Given the description of an element on the screen output the (x, y) to click on. 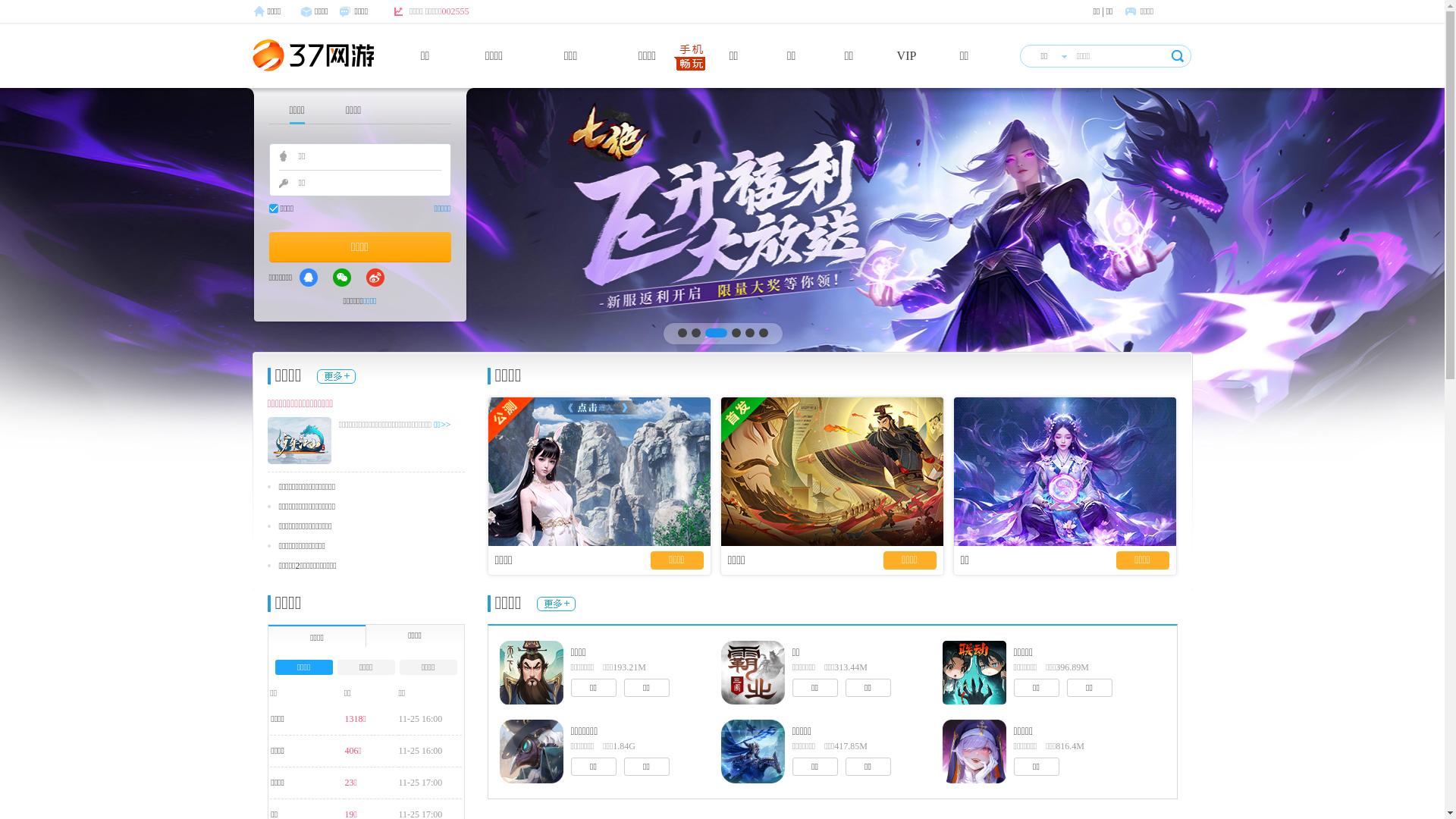
VIP Element type: text (906, 55)
QQ Element type: hover (308, 277)
